Given the description of an element on the screen output the (x, y) to click on. 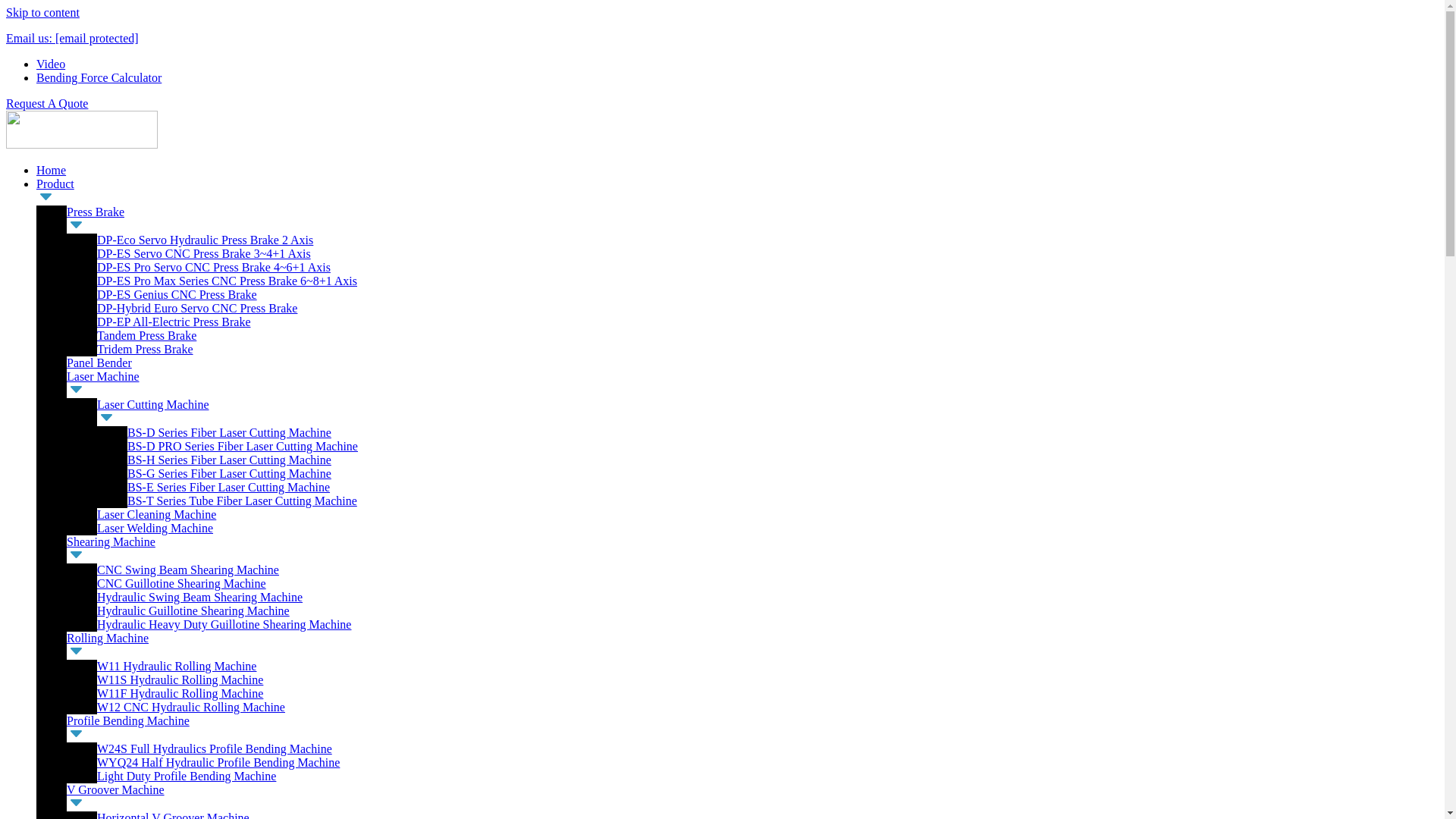
BS-H Series Fiber Laser Cutting Machine (229, 459)
Laser Machine (102, 376)
Hydraulic Swing Beam Shearing Machine (199, 596)
Shearing Machine (110, 541)
BS-G Series Fiber Laser Cutting Machine (229, 472)
Laser Cleaning Machine (156, 513)
W11 Hydraulic Rolling Machine (176, 666)
Product (55, 183)
W11F Hydraulic Rolling Machine (180, 693)
BS-T Series Tube Fiber Laser Cutting Machine (242, 500)
Home (50, 169)
Request A Quote (46, 103)
DP-Eco Servo Hydraulic Press Brake 2 Axis (205, 239)
Laser Cutting Machine (153, 404)
DP-EP All-Electric Press Brake (173, 321)
